Given the description of an element on the screen output the (x, y) to click on. 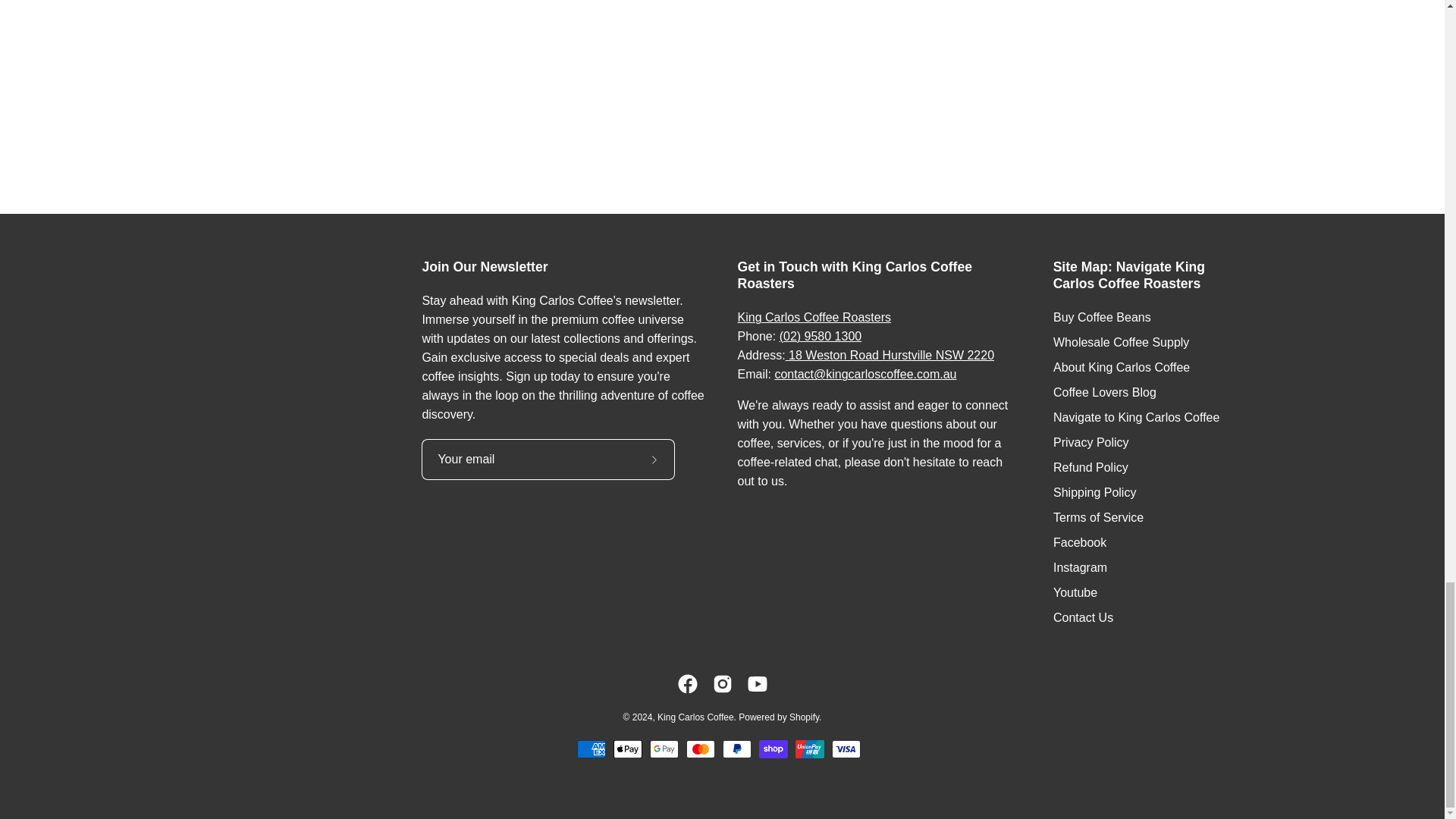
Contact King Carlos Coffee Roasters (812, 317)
how to get to king carlos coffee (890, 354)
View King Carlos Coffee on Facebook (687, 683)
call king carlos coffee (819, 336)
View King Carlos Coffee on Youtube (756, 683)
View King Carlos Coffee on Instagram (722, 683)
email king carlos coffee (865, 373)
